Given the description of an element on the screen output the (x, y) to click on. 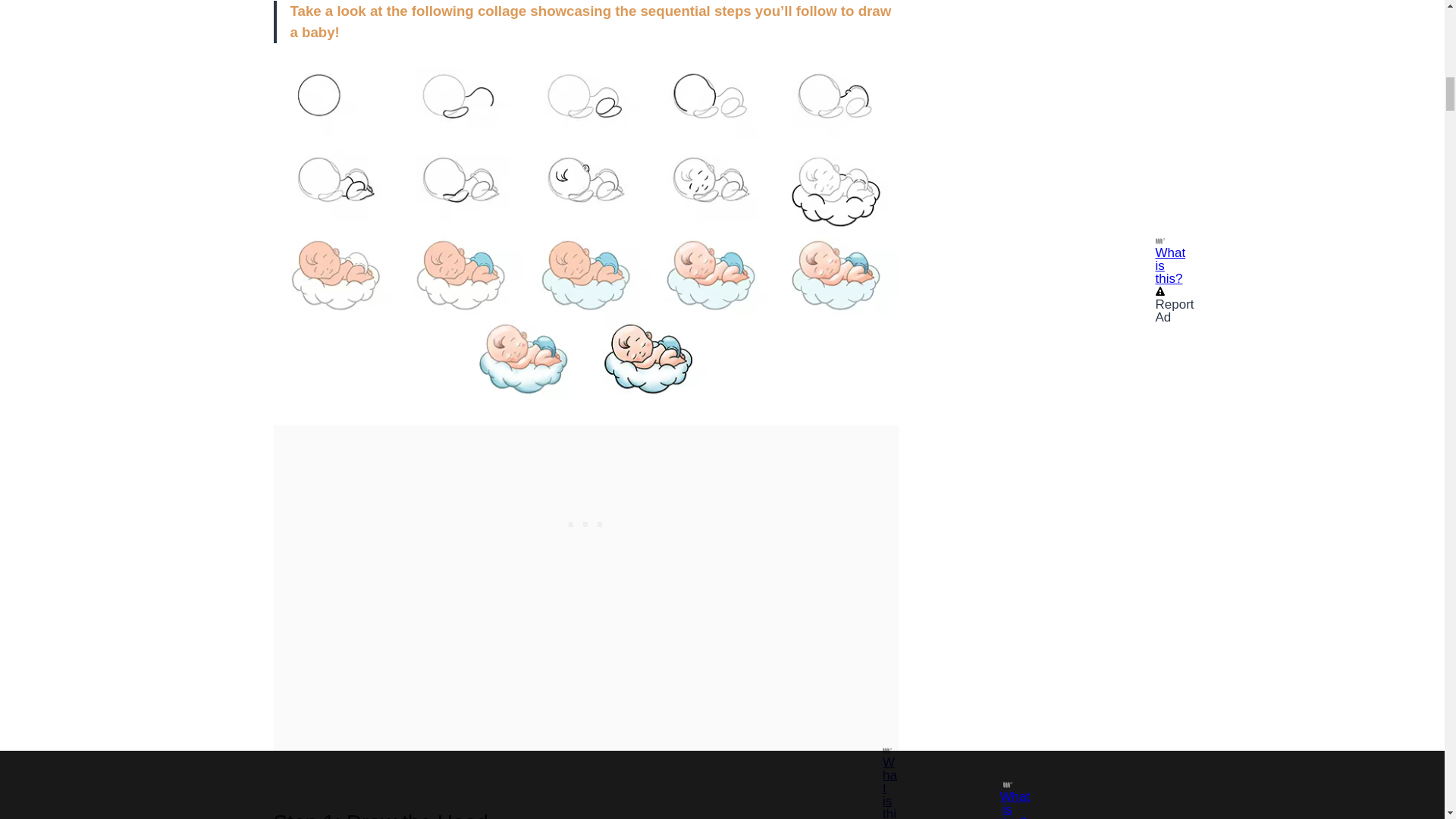
3rd party ad content (585, 520)
3rd party ad content (1056, 6)
